Given the description of an element on the screen output the (x, y) to click on. 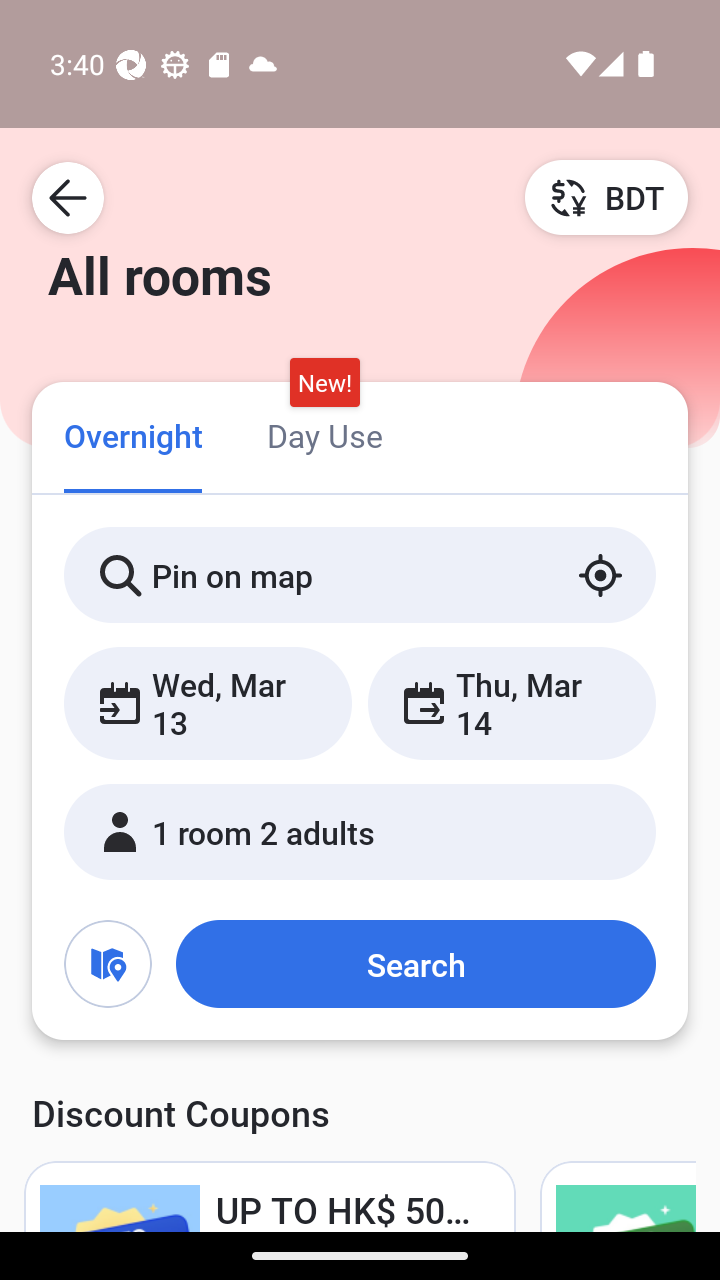
BDT (606, 197)
New! (324, 383)
Day Use (324, 434)
Pin on map (359, 575)
Wed, Mar 13 (208, 703)
Thu, Mar 14 (511, 703)
1 room 2 adults (359, 831)
Search (415, 964)
